Given the description of an element on the screen output the (x, y) to click on. 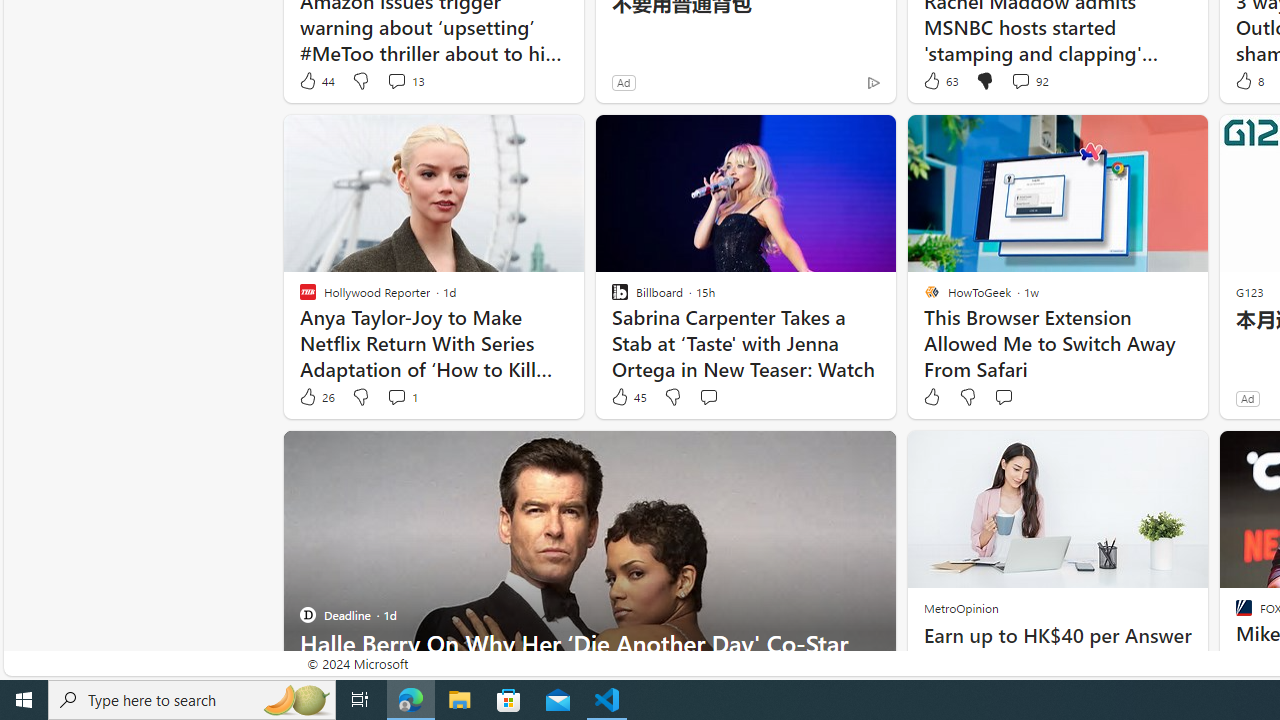
44 Like (316, 80)
G123 (1249, 291)
8 Like (1248, 80)
63 Like (939, 80)
Start the conversation (1003, 397)
45 Like (628, 397)
26 Like (316, 397)
